Given the description of an element on the screen output the (x, y) to click on. 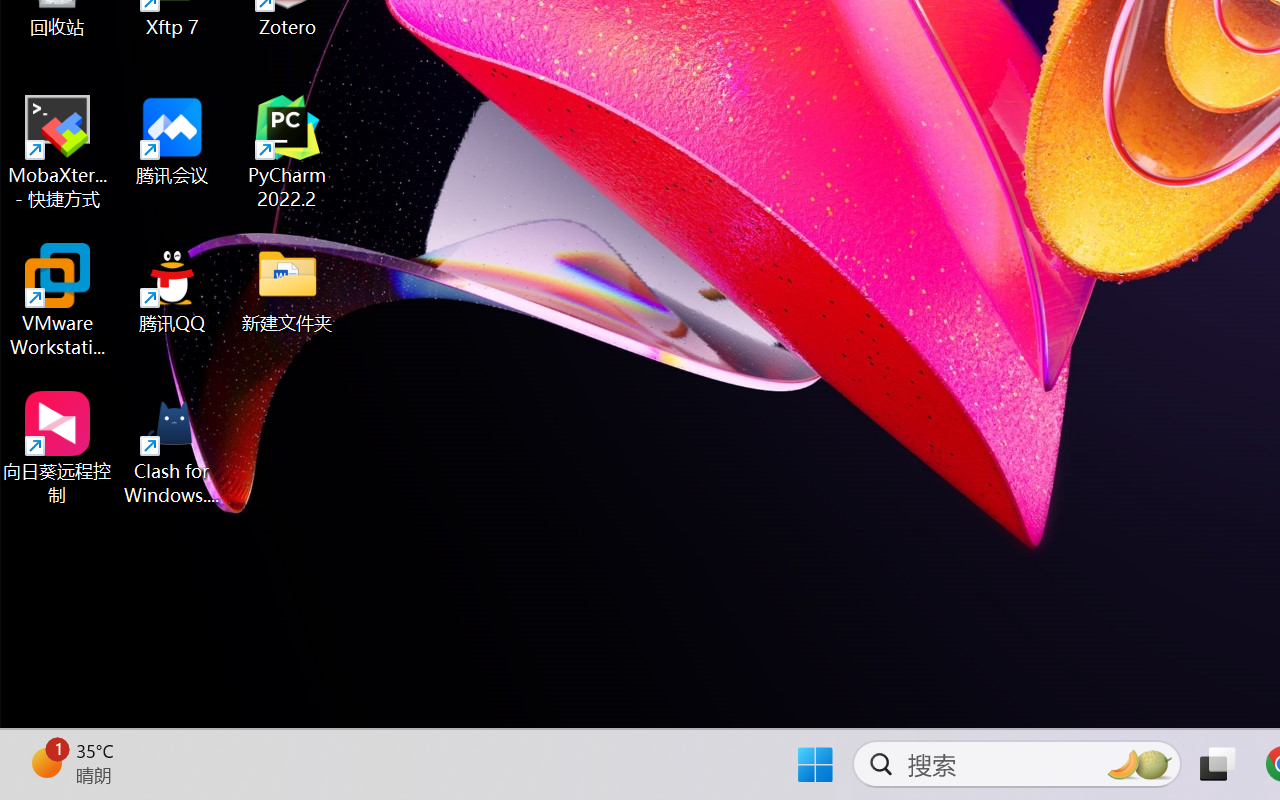
December 15, 2022 (984, 359)
February 4, 2021 (975, 750)
July 1, 2021 (961, 653)
February 10, 2022 (979, 555)
November 15, 2023 (984, 67)
Comparison (1009, 702)
October 4, 2022 (973, 458)
July 1, 2023 (961, 262)
October 4, 2023 (973, 165)
